Given the description of an element on the screen output the (x, y) to click on. 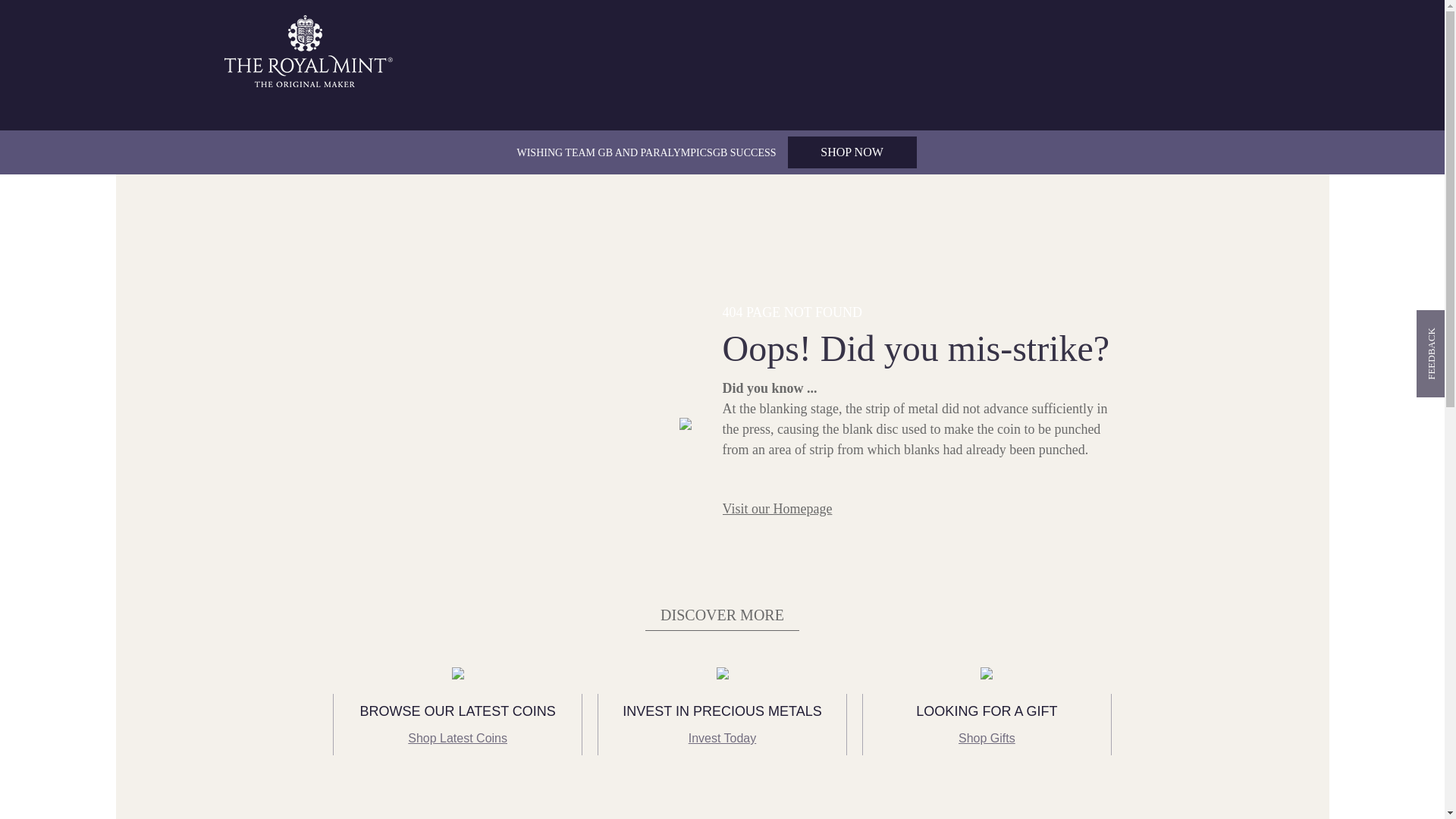
Browse our latest coins (456, 711)
Invest Today (722, 738)
 -  (721, 671)
Shop latest Coins (456, 738)
Looking for a Gift (986, 711)
Invest in precious metals (722, 711)
The Royal Mint (309, 50)
 -  (457, 671)
 -  (986, 671)
Shop Gifts (986, 738)
The Royal Mint - Copyright (309, 49)
